Given the description of an element on the screen output the (x, y) to click on. 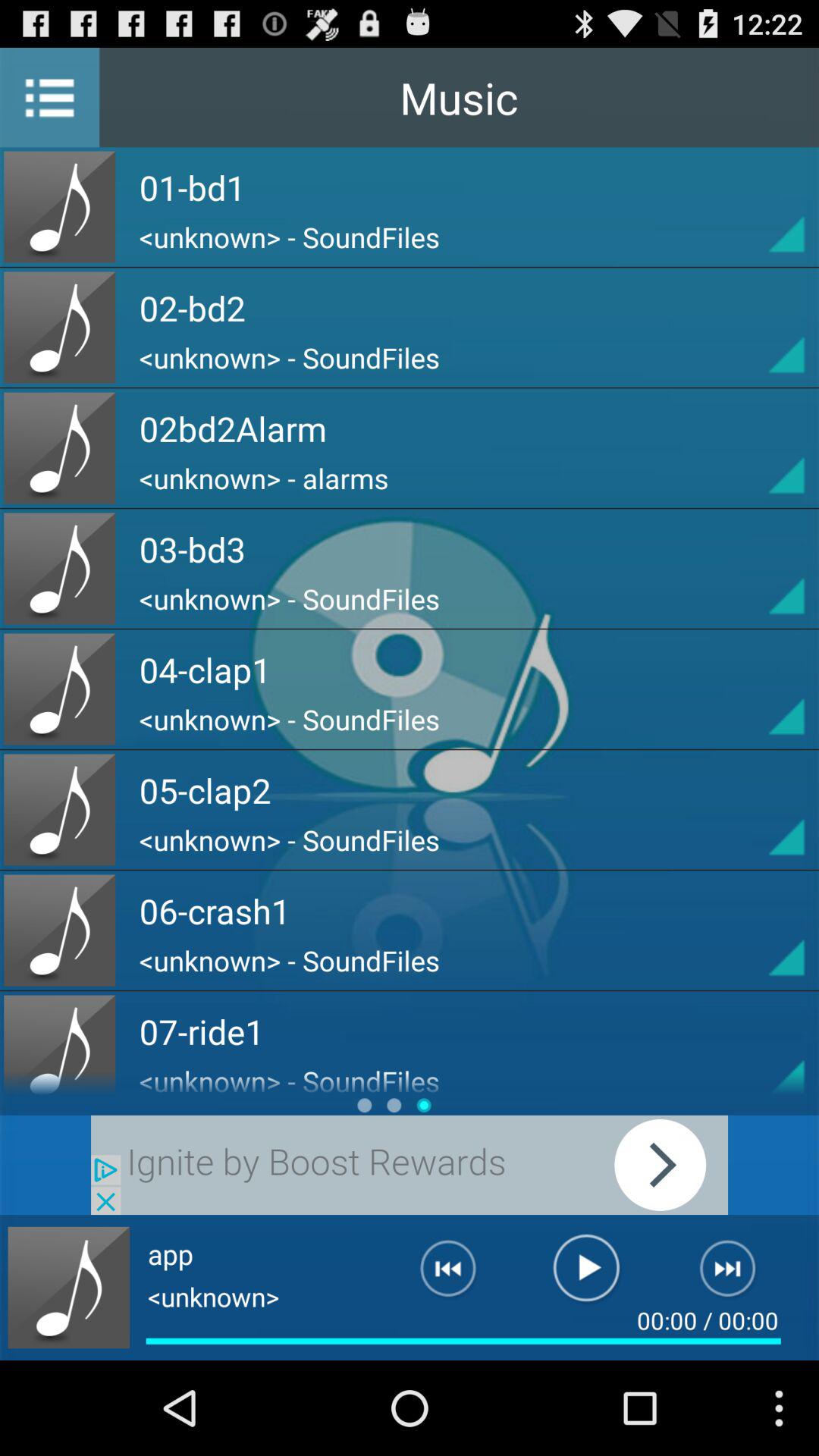
go to play (409, 1164)
